Given the description of an element on the screen output the (x, y) to click on. 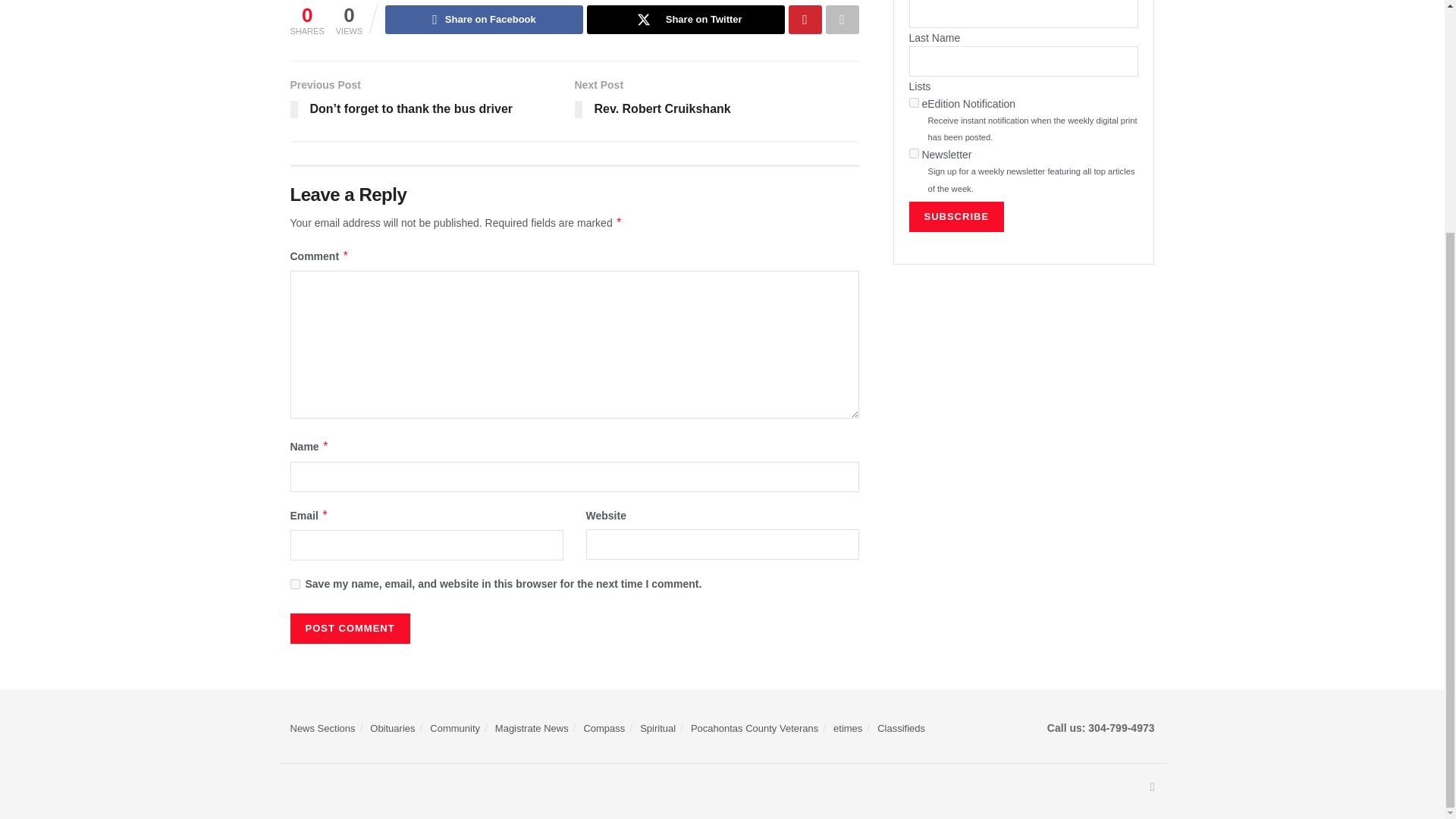
2 (913, 153)
yes (294, 583)
Subscribe (956, 216)
Post Comment (349, 628)
1 (913, 102)
